Given the description of an element on the screen output the (x, y) to click on. 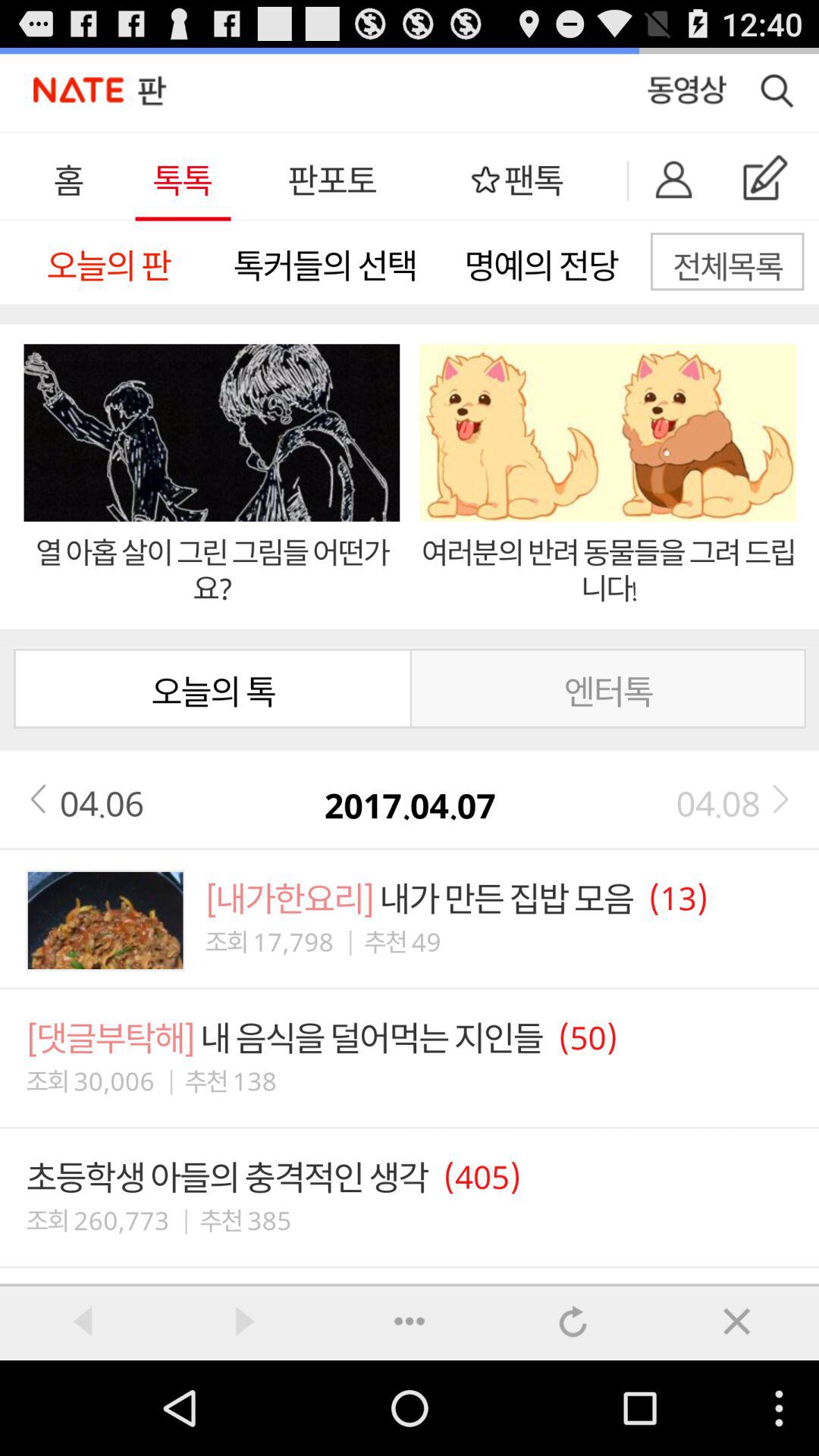
close button (737, 1320)
